Given the description of an element on the screen output the (x, y) to click on. 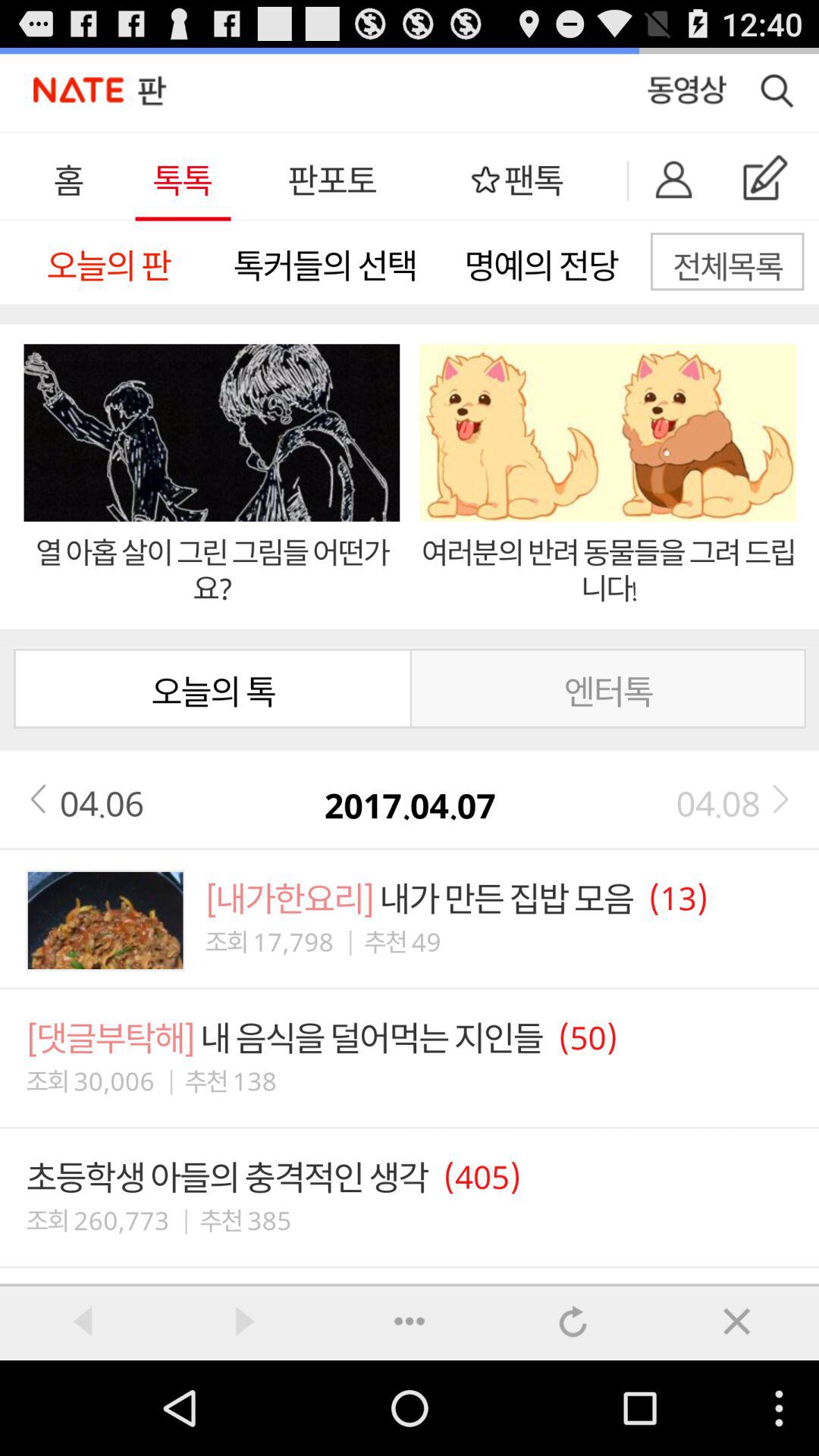
close button (737, 1320)
